Given the description of an element on the screen output the (x, y) to click on. 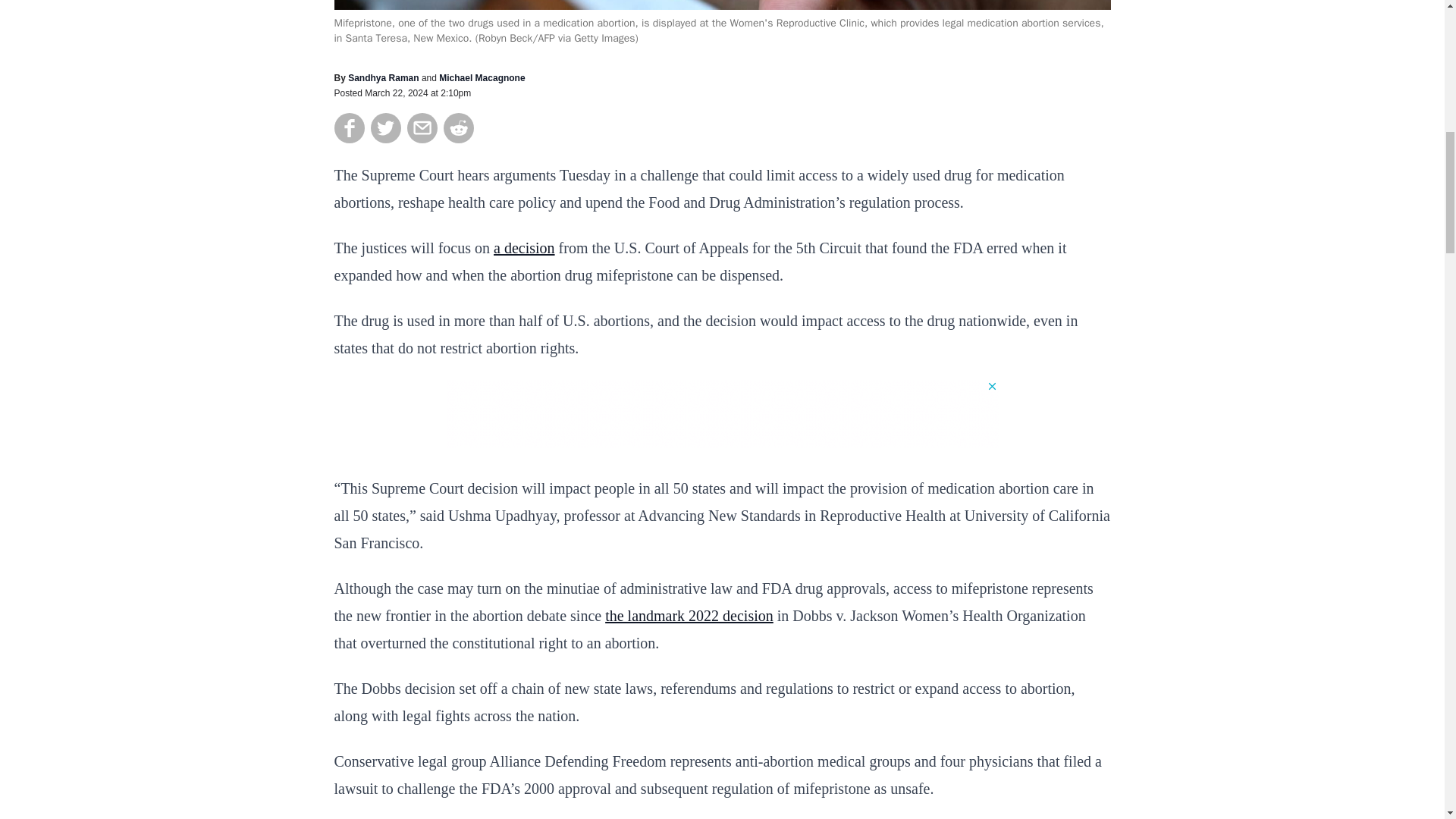
3rd party ad content (721, 413)
